Given the description of an element on the screen output the (x, y) to click on. 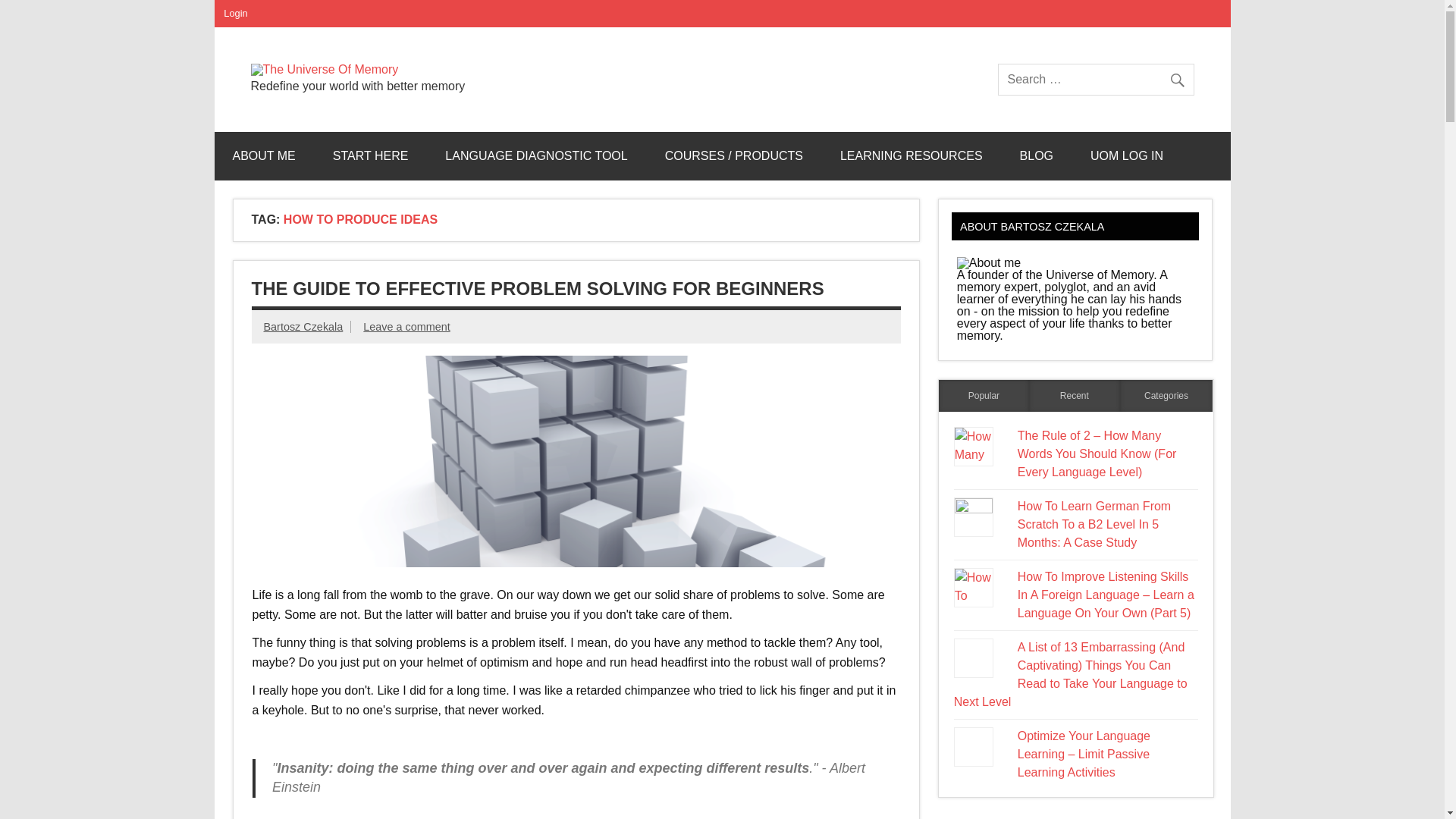
Categories (1165, 395)
Tab 1 (984, 395)
View all posts by Bartosz Czekala (303, 326)
UOM LOG IN (1125, 155)
Popular (984, 395)
START HERE (370, 155)
Tab 3 (1165, 395)
BLOG (1036, 155)
Recent (1074, 395)
